Given the description of an element on the screen output the (x, y) to click on. 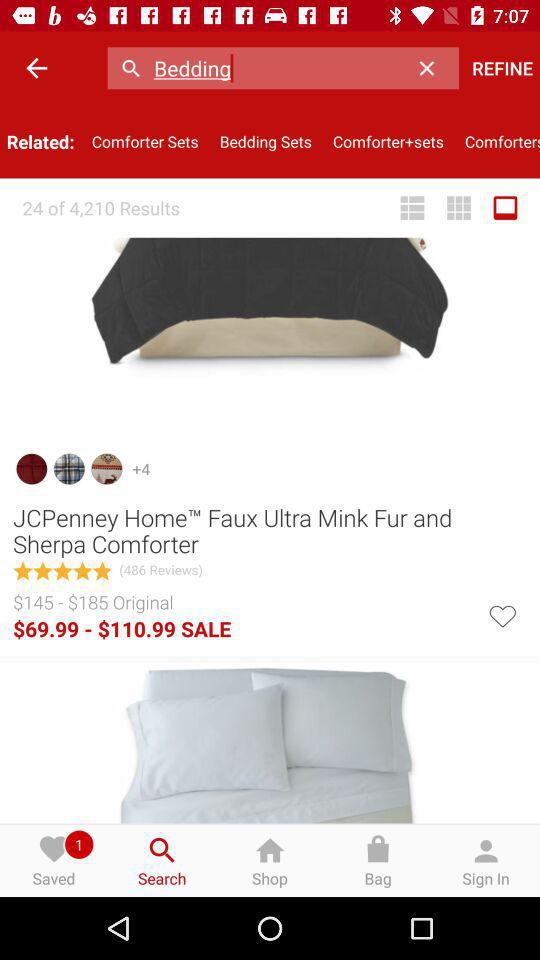
open item next to the 24 of 4 (412, 208)
